Given the description of an element on the screen output the (x, y) to click on. 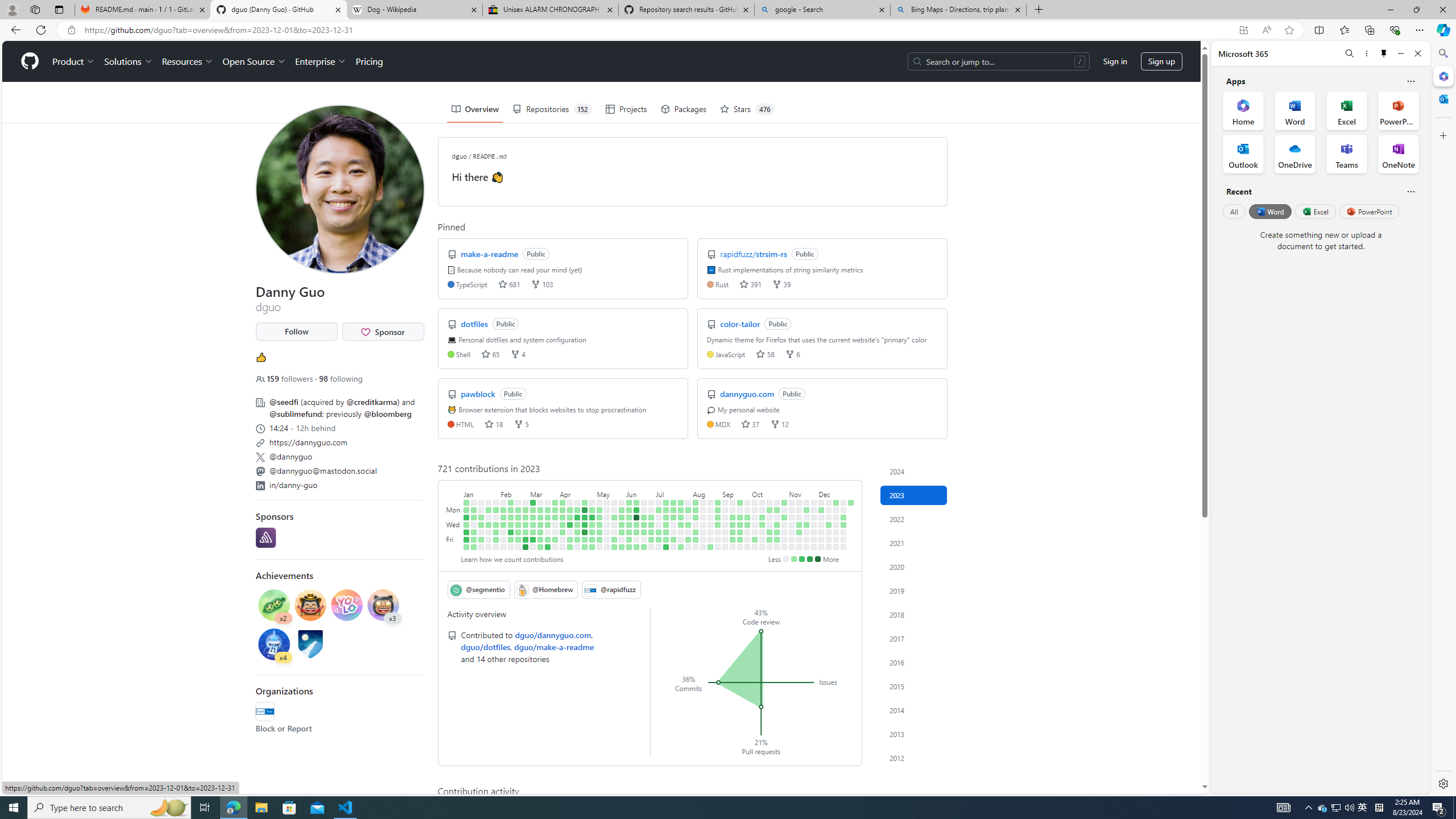
X (259, 456)
1 contribution on June 21st. (643, 524)
2 contributions on October 27th. (777, 539)
2 contributions on May 11th. (599, 531)
5 contributions on June 6th. (628, 517)
1 contribution on September 27th. (747, 524)
No contributions on August 1st. (688, 517)
1 contribution on January 9th. (473, 509)
2 contributions on September 19th. (740, 517)
No contributions on August 9th. (695, 524)
No contributions on January 16th. (481, 509)
forks 103 (541, 283)
Sign in (1115, 61)
7 contributions on May 9th. (599, 517)
